Given the description of an element on the screen output the (x, y) to click on. 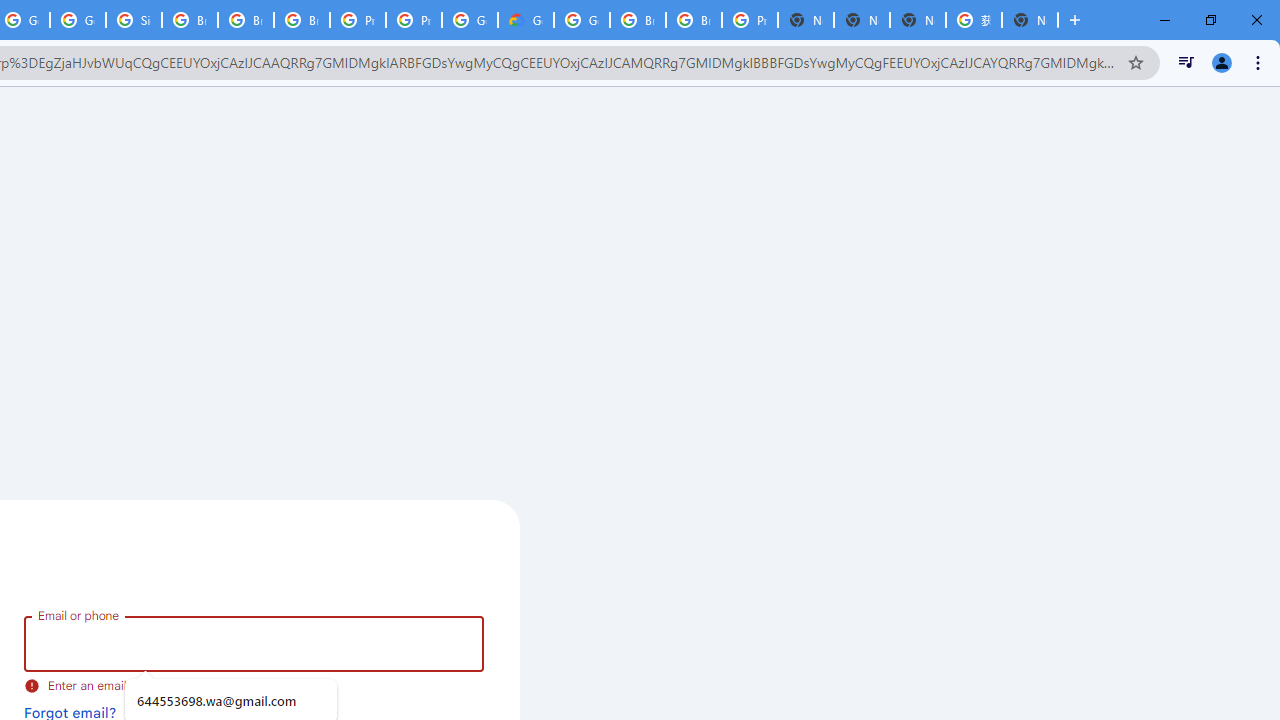
Browse Chrome as a guest - Computer - Google Chrome Help (189, 20)
Browse Chrome as a guest - Computer - Google Chrome Help (693, 20)
Browse Chrome as a guest - Computer - Google Chrome Help (637, 20)
Browse Chrome as a guest - Computer - Google Chrome Help (245, 20)
Email or phone (253, 643)
New Tab (1030, 20)
New Tab (806, 20)
